Given the description of an element on the screen output the (x, y) to click on. 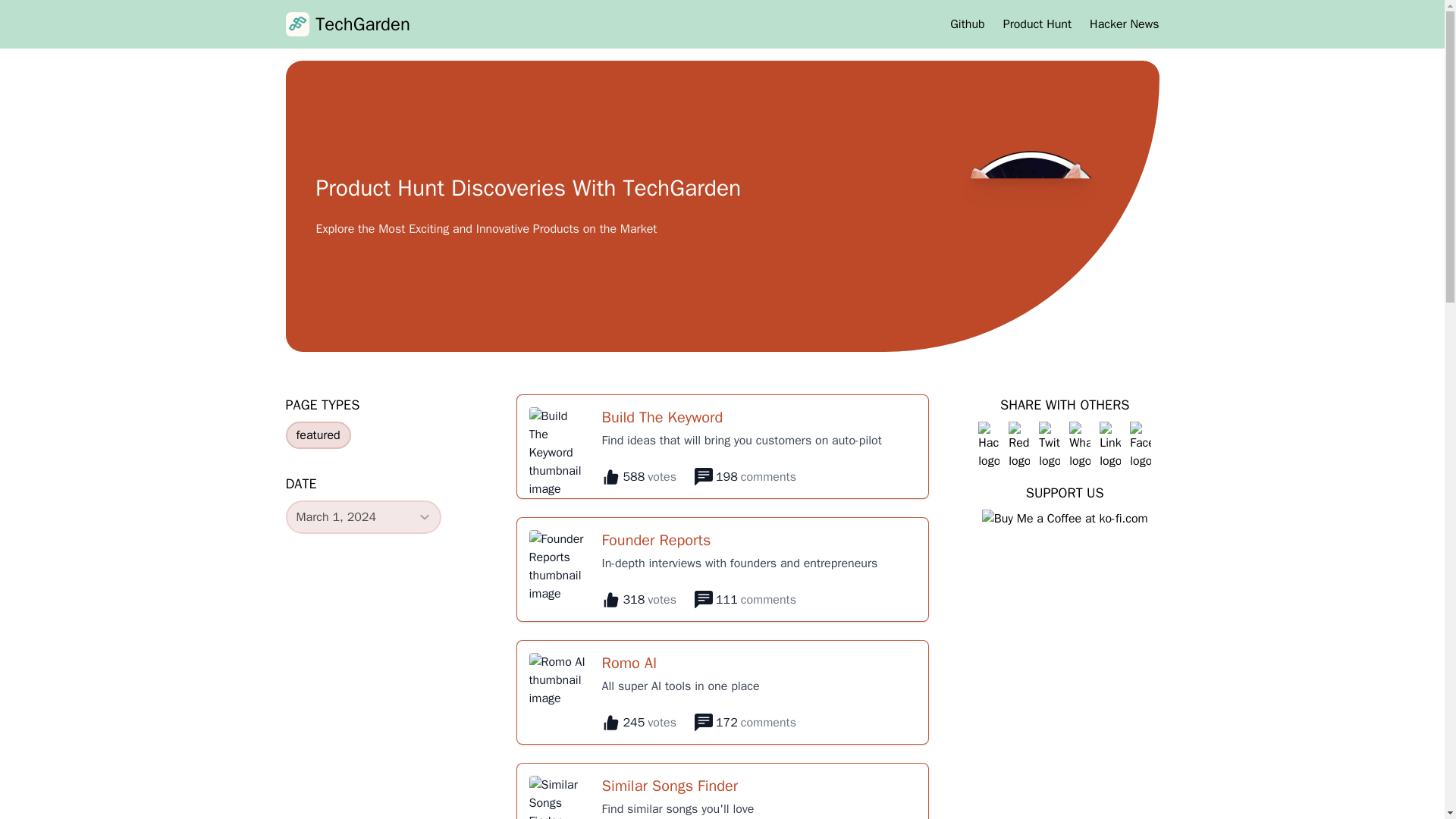
Share on Twitter (1049, 445)
Share on Linkedin (1110, 445)
Share on Reddit (1019, 445)
Github (967, 24)
Share on Hackernews (988, 445)
Share on Facebook (1140, 445)
Product Hunt (1037, 24)
TechGarden (347, 24)
Hacker News (1123, 24)
Share on Whatsapp (1079, 445)
featured (317, 434)
